Given the description of an element on the screen output the (x, y) to click on. 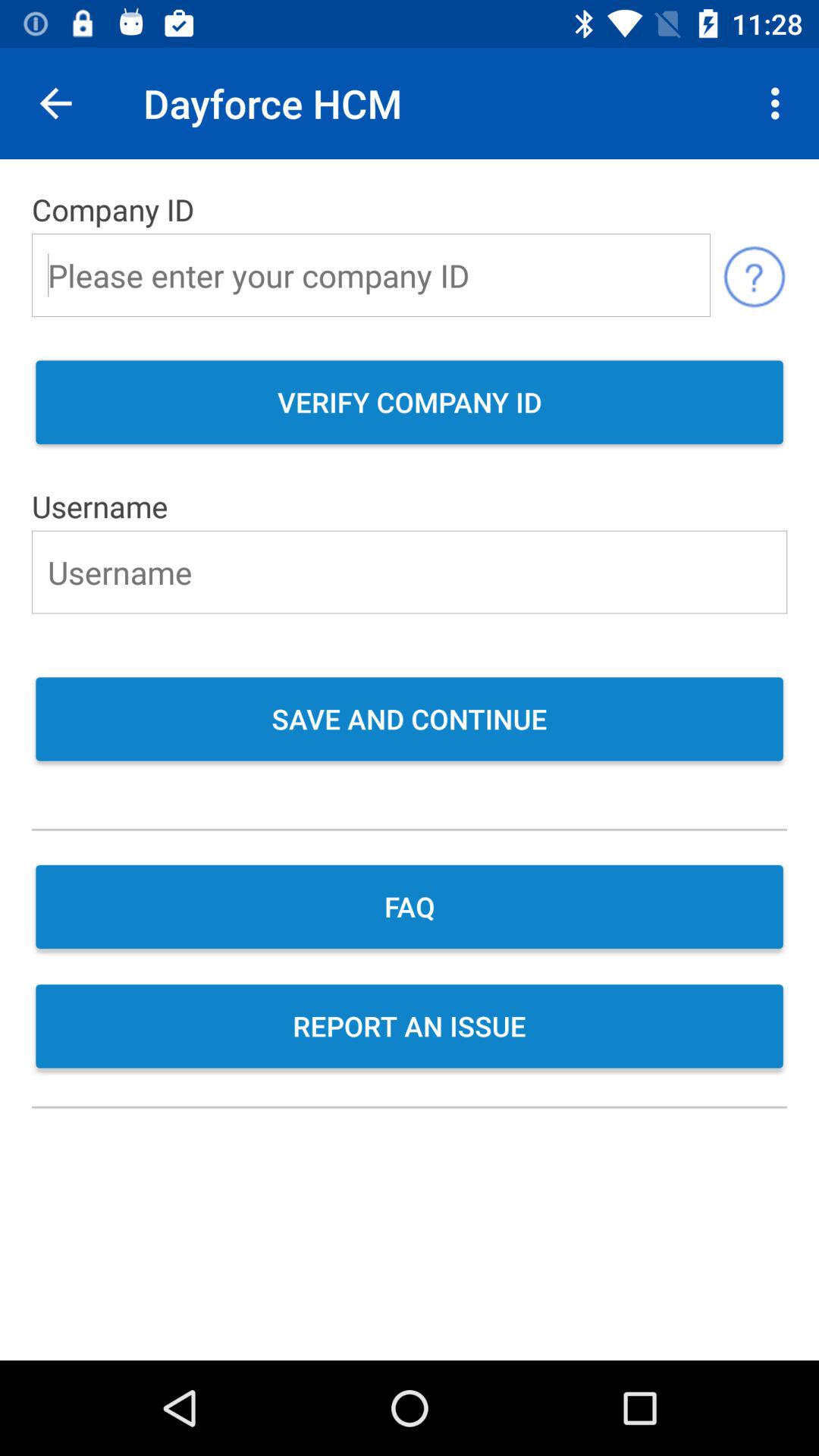
tap item above the company id icon (779, 103)
